Given the description of an element on the screen output the (x, y) to click on. 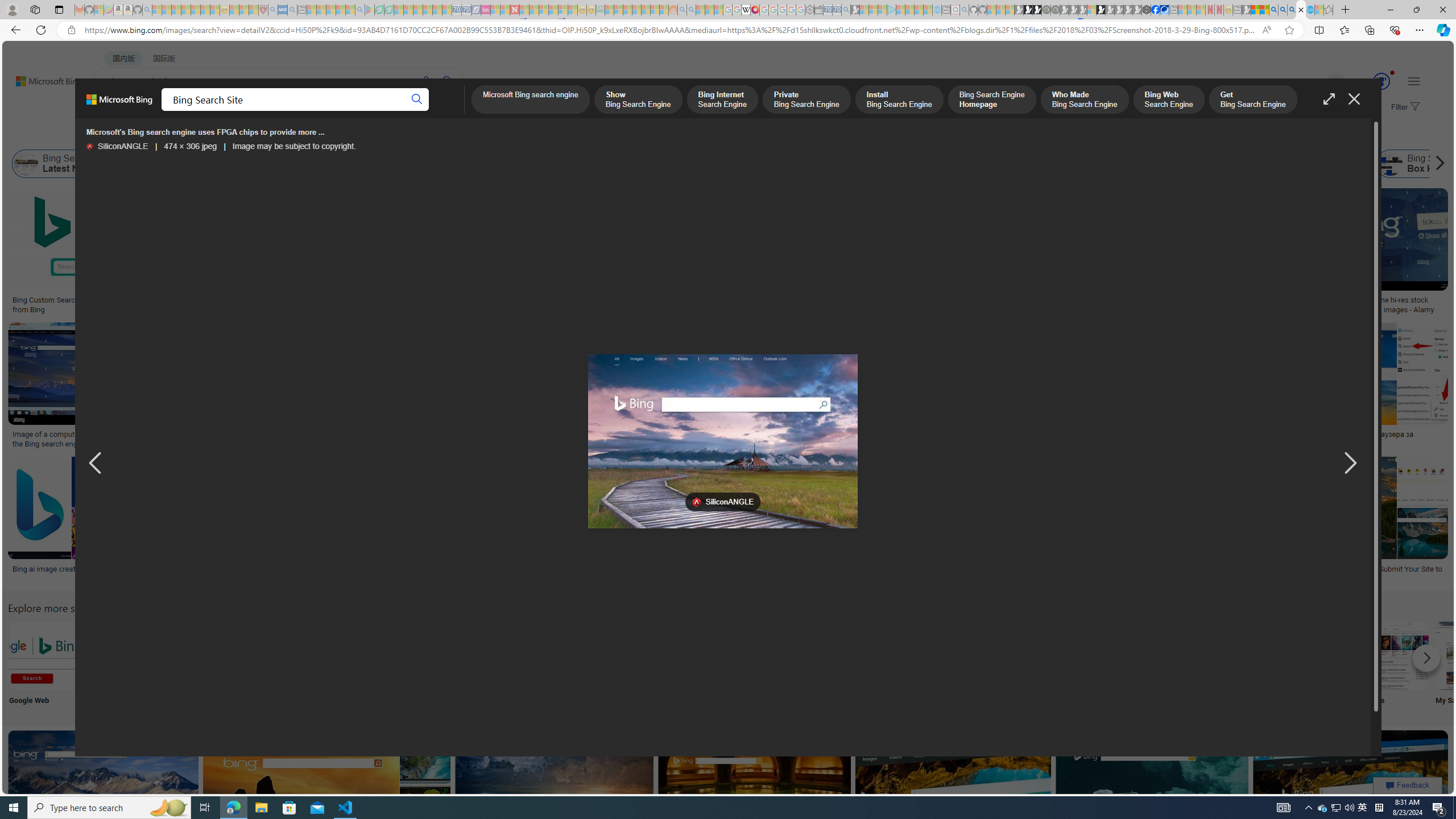
20 Reasons to Search With Bing | PCMag (648, 299)
14 Common Myths Debunked By Scientific Facts - Sleeping (533, 9)
Internet Explorer Bing Search Internet Explorer (192, 665)
Expert Portfolios - Sleeping (636, 9)
MY BING (156, 111)
Bing Random Search Random (794, 665)
Bing Search Settings (1243, 654)
Bing Home Search Site (1326, 163)
Bing Search App Icon App Icon (418, 665)
DITOGAMES AG Imprint - Sleeping (600, 9)
Internet Explorer (192, 665)
Bing Search App Logo App Logo (118, 665)
